Given the description of an element on the screen output the (x, y) to click on. 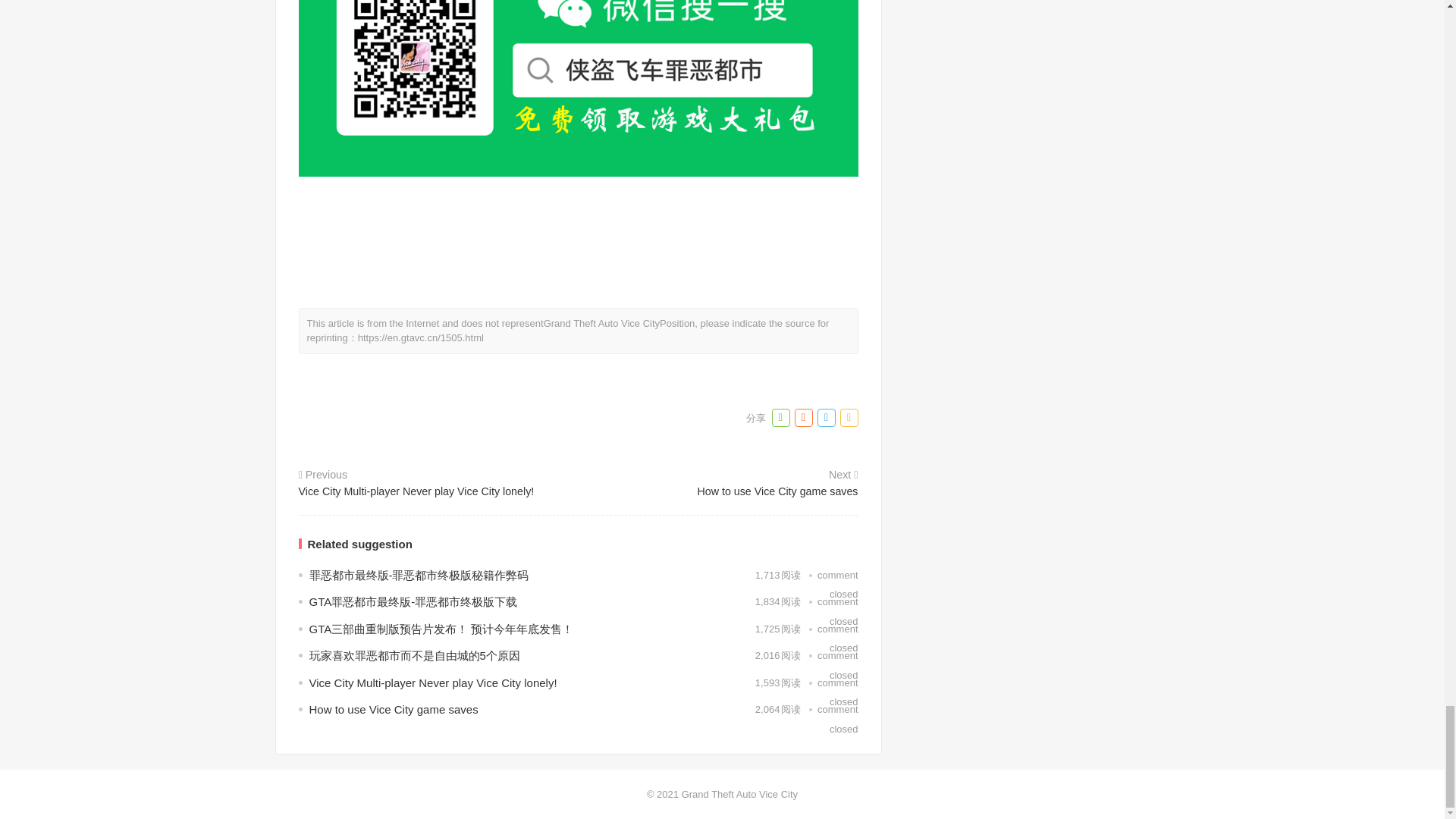
Vice City Multi-player Never play Vice City lonely! (432, 682)
How to use Vice City game saves (393, 708)
How to use Vice City game saves (720, 491)
Vice City Multi-player Never play Vice City lonely! (436, 491)
